Given the description of an element on the screen output the (x, y) to click on. 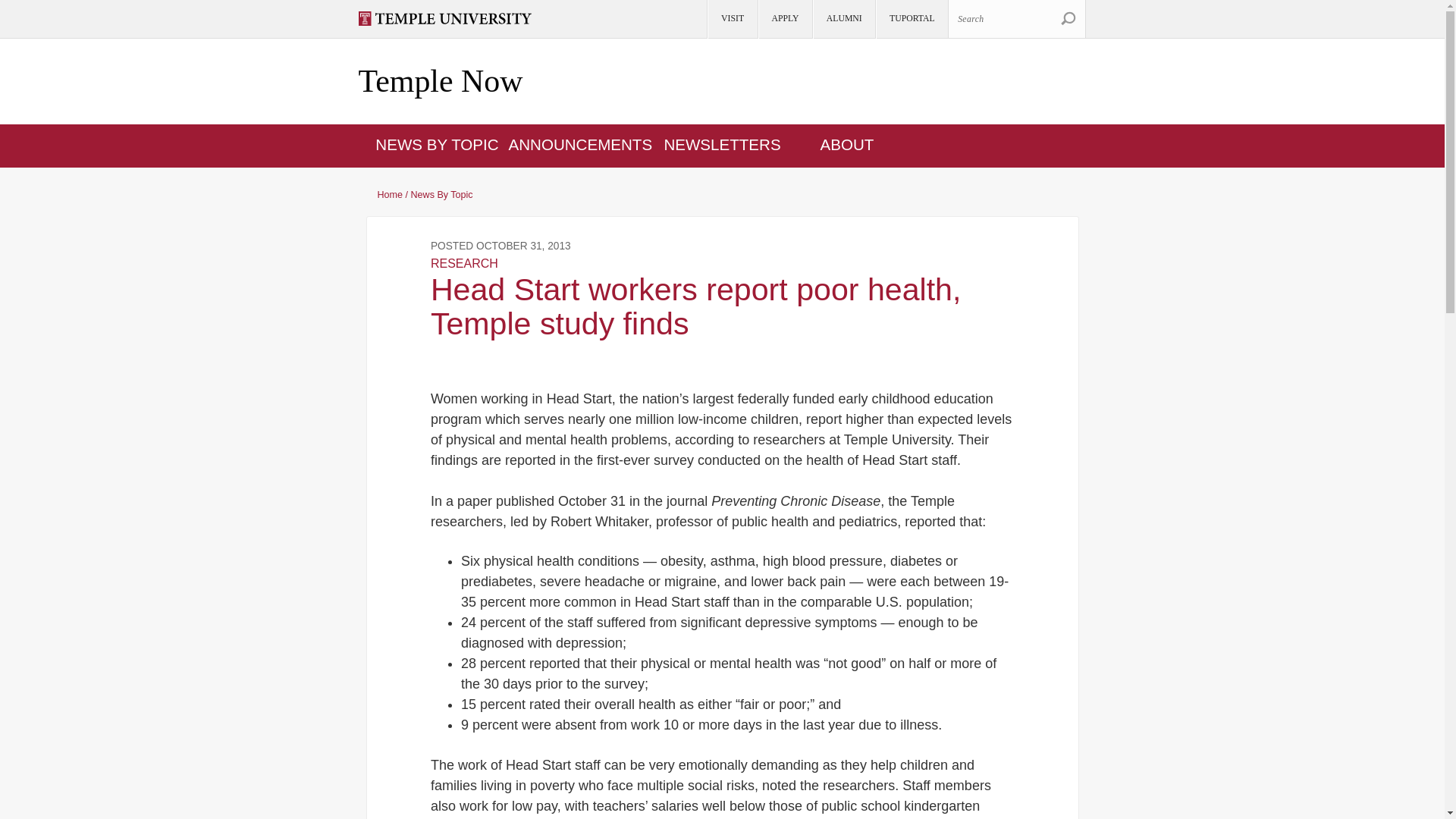
ALUMNI (843, 19)
Temple Now (440, 81)
ANNOUNCEMENTS (580, 144)
APPLY (784, 19)
Home (440, 81)
Search (1067, 18)
NEWSLETTERS (721, 144)
TUPORTAL (911, 19)
Visit Temple.edu (451, 18)
Search Site (1067, 18)
